Given the description of an element on the screen output the (x, y) to click on. 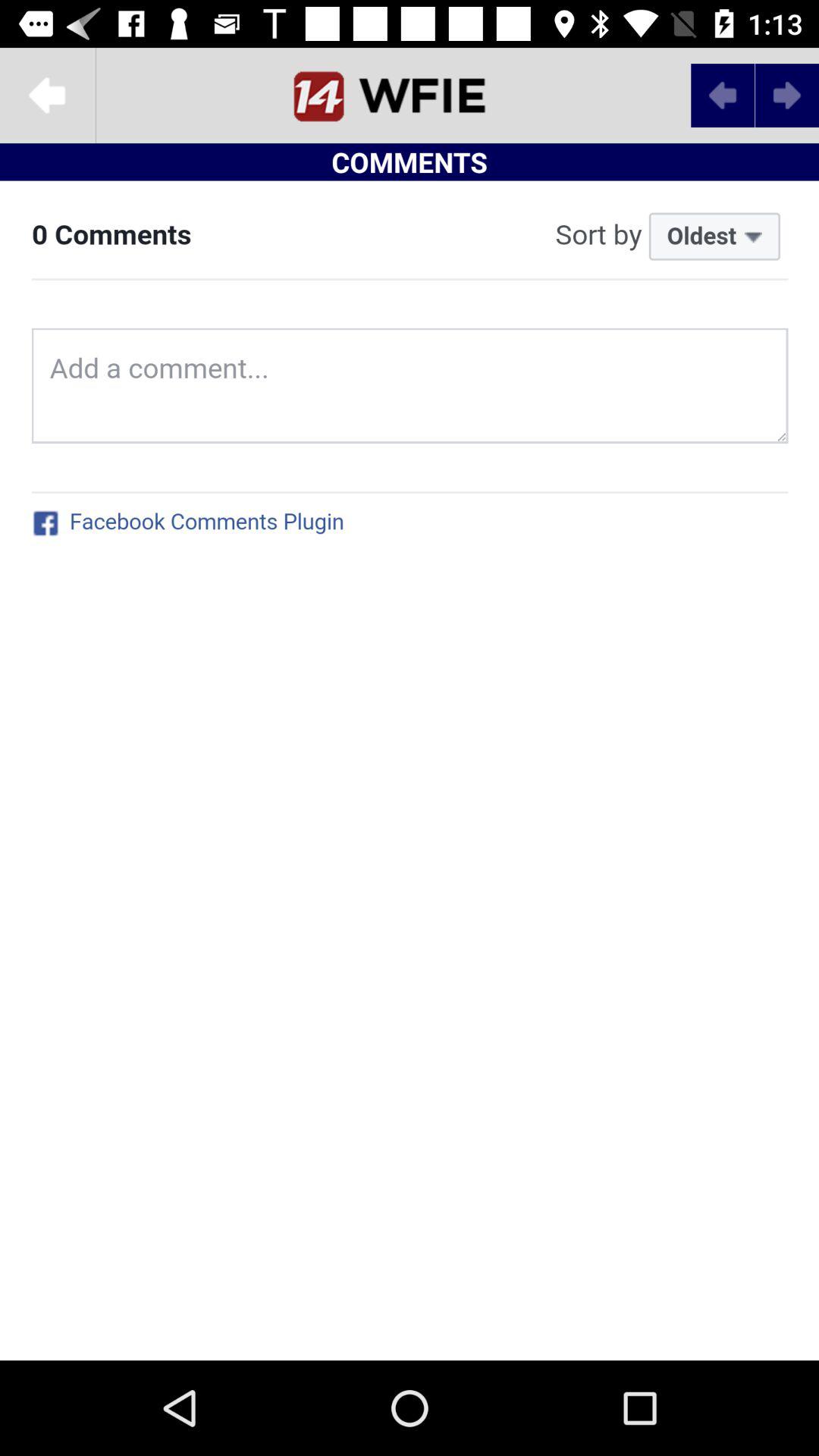
button is useed to share the article (47, 95)
